Given the description of an element on the screen output the (x, y) to click on. 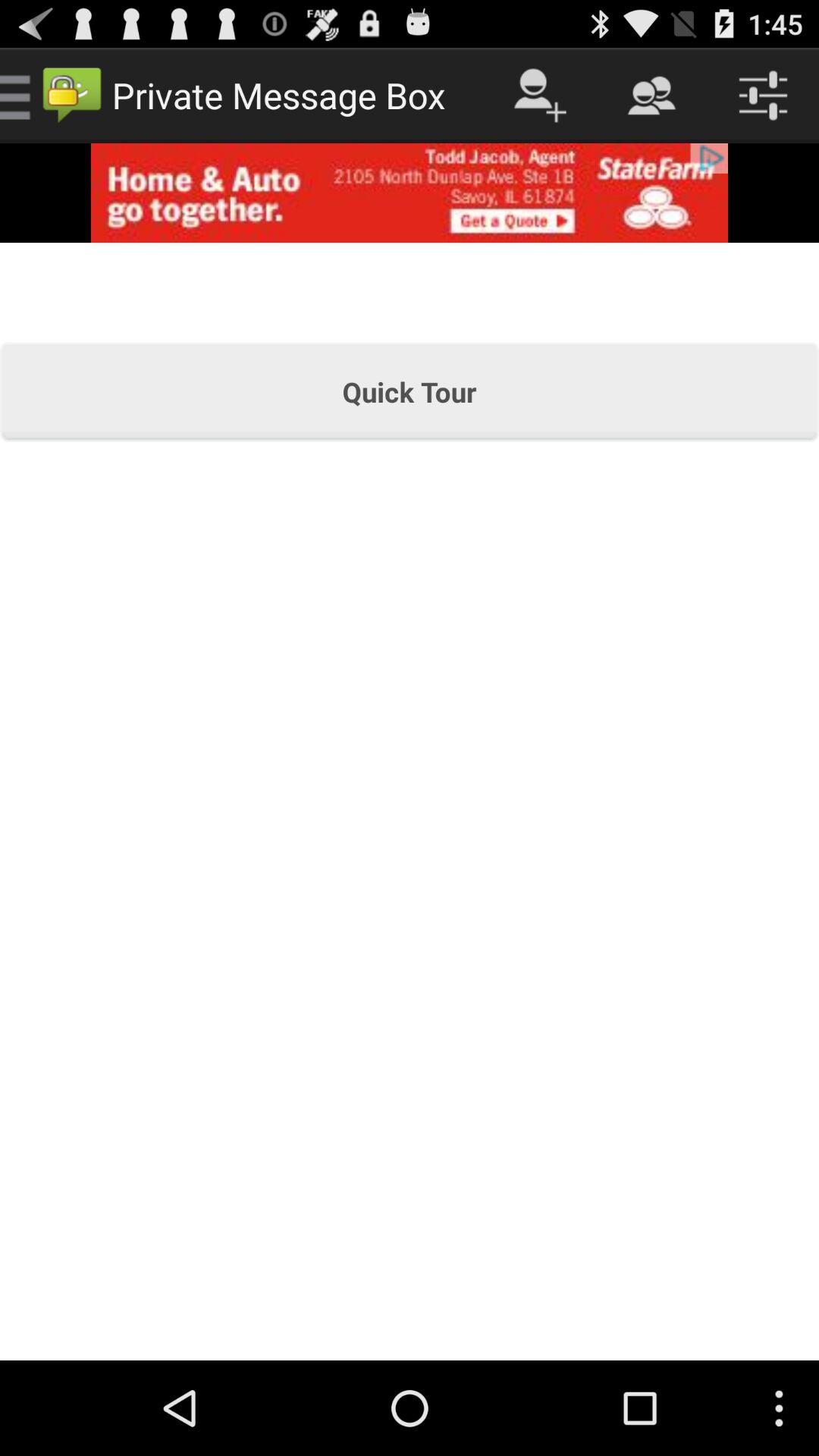
open advertisement (409, 192)
